Given the description of an element on the screen output the (x, y) to click on. 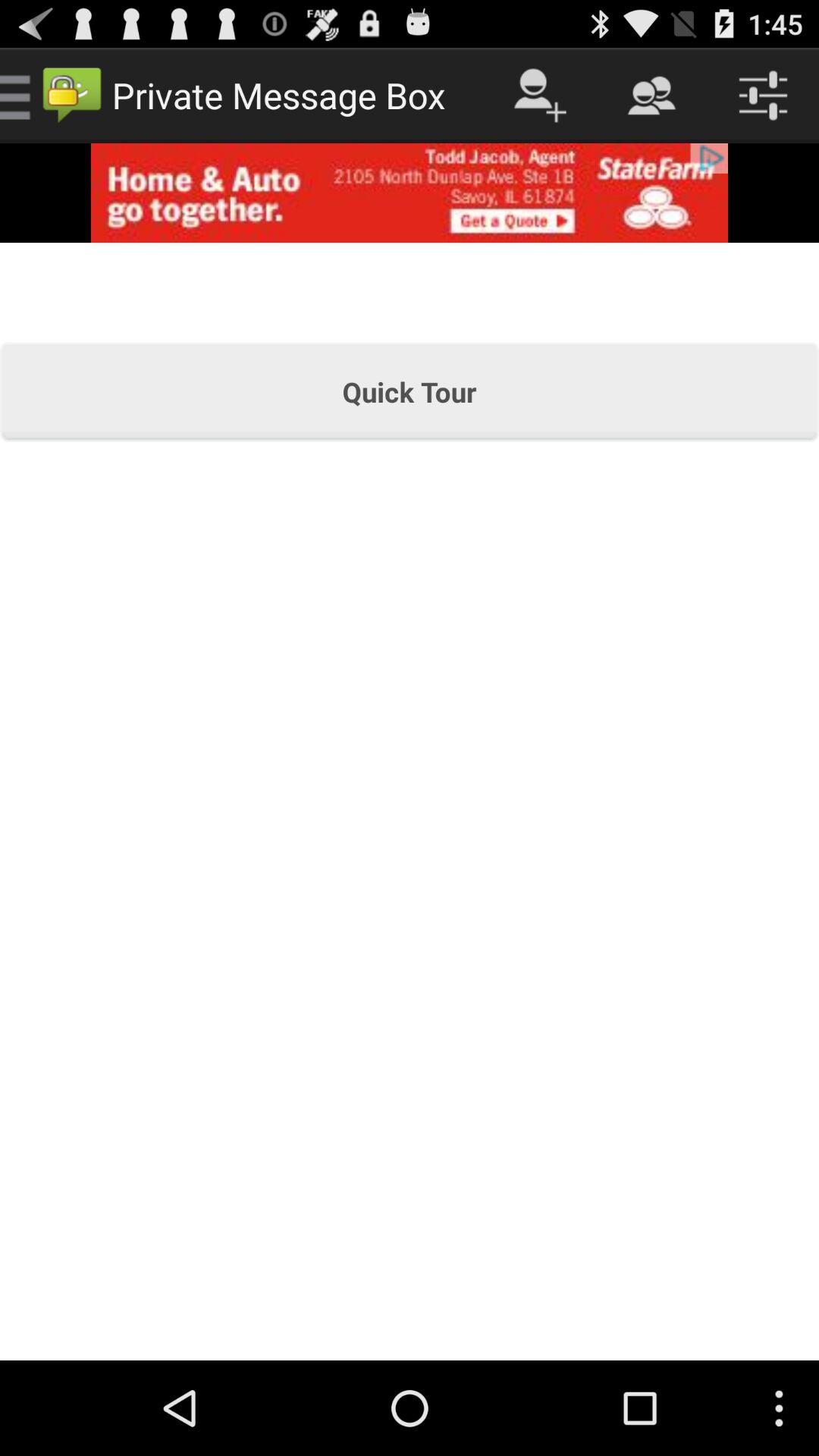
open advertisement (409, 192)
